Given the description of an element on the screen output the (x, y) to click on. 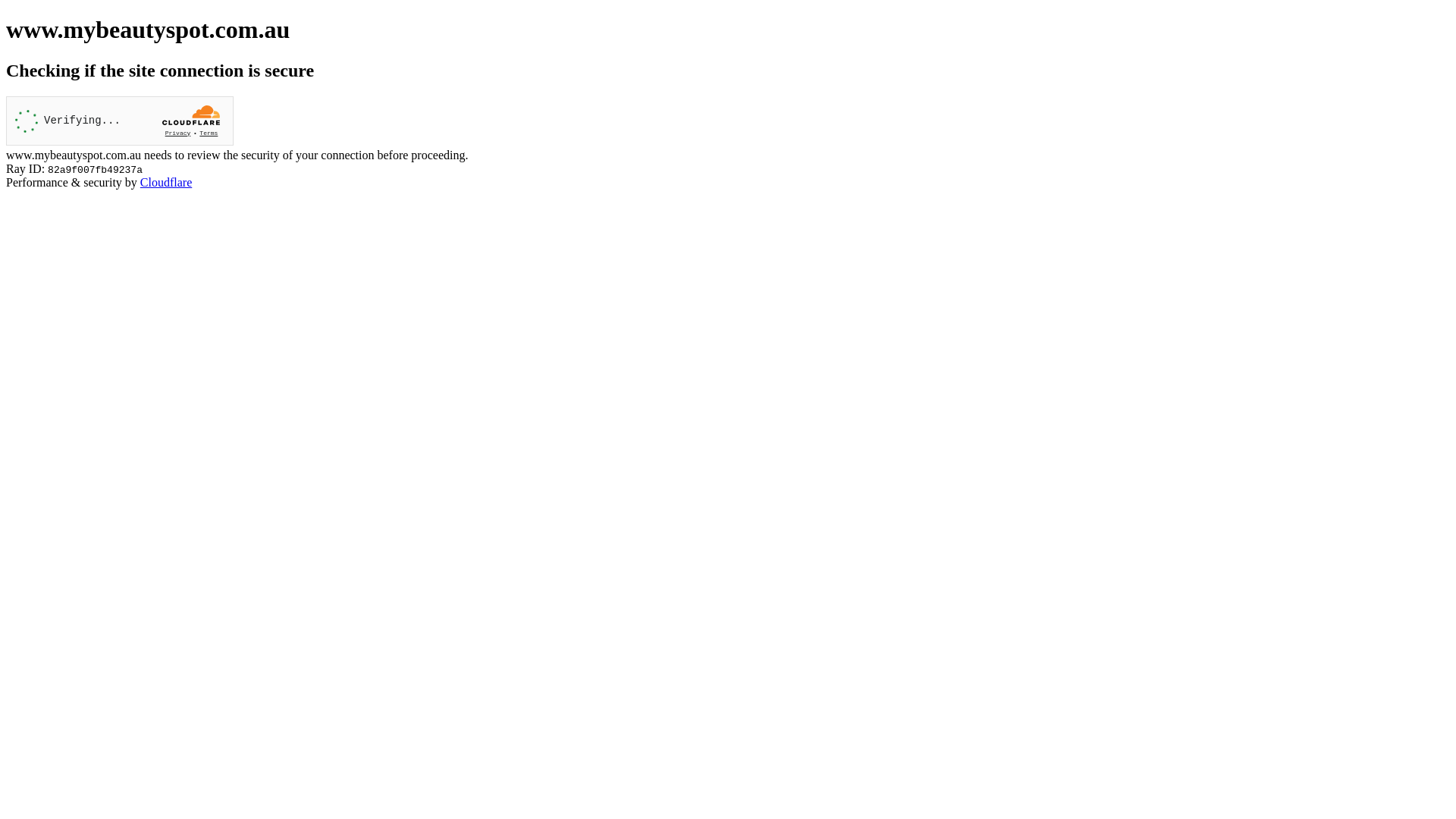
Cloudflare Element type: text (165, 181)
Widget containing a Cloudflare security challenge Element type: hover (119, 120)
